Given the description of an element on the screen output the (x, y) to click on. 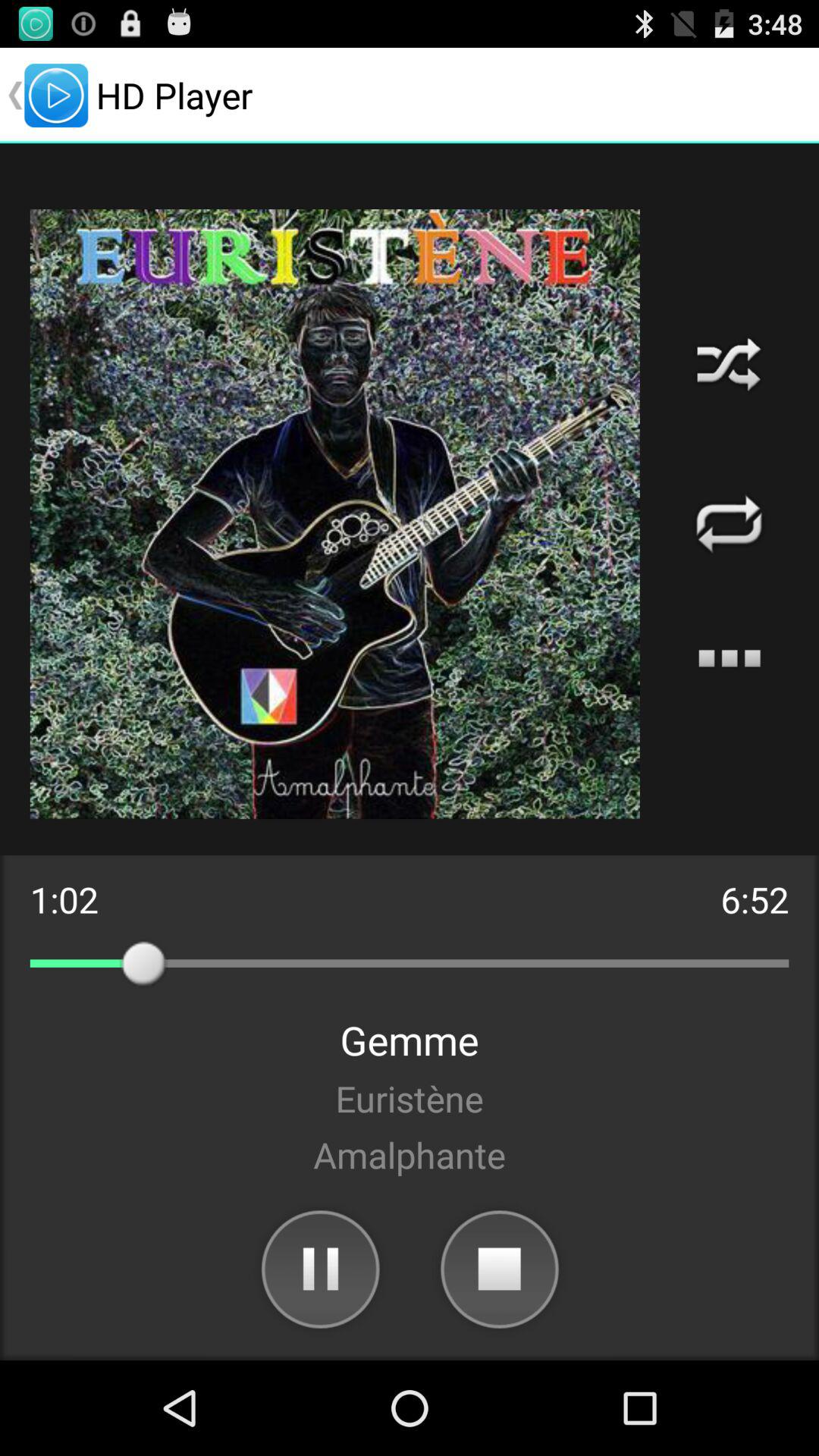
select icon at the top right corner (728, 364)
